Given the description of an element on the screen output the (x, y) to click on. 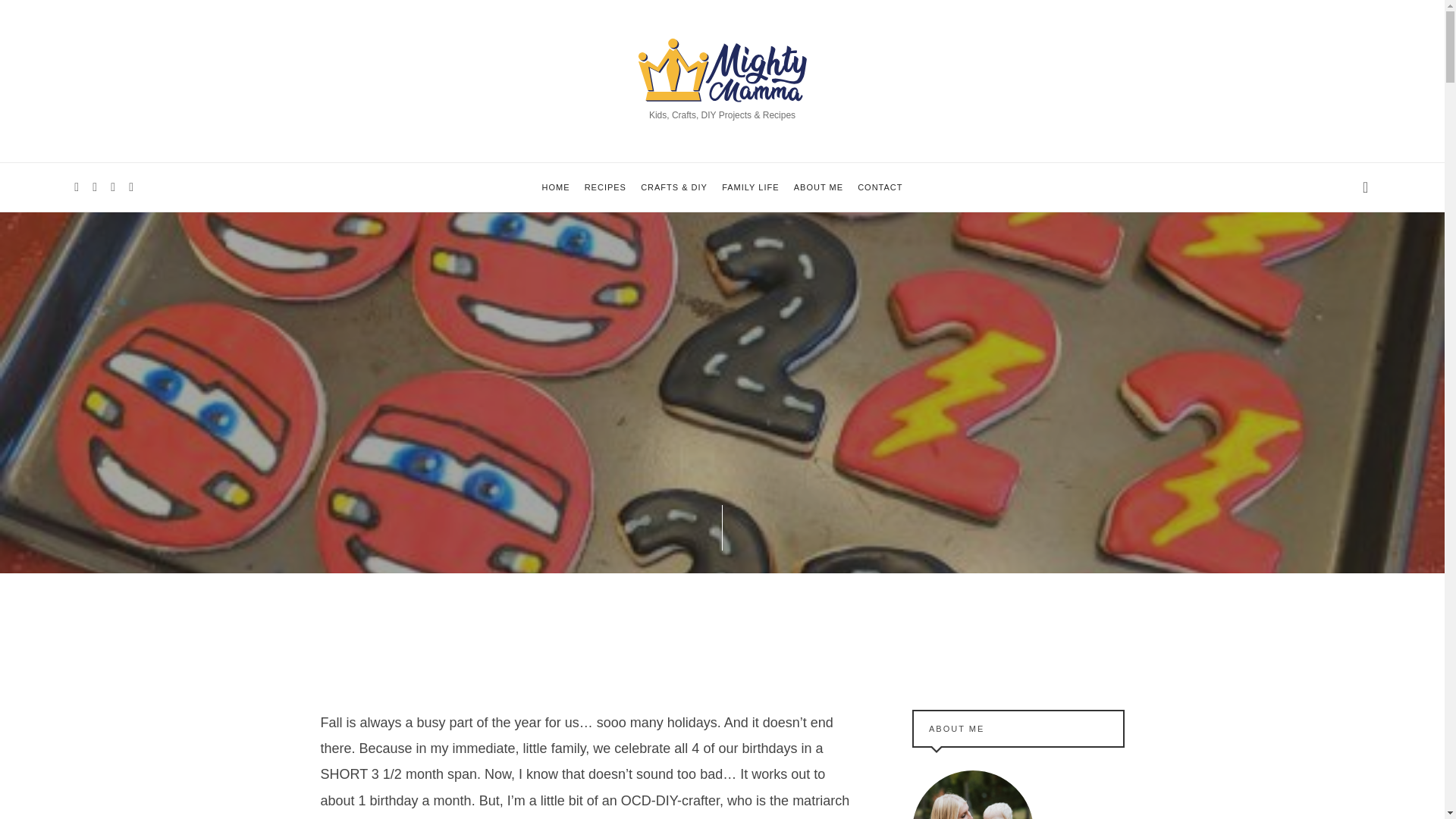
ABOUT ME (818, 186)
CONTACT (879, 186)
FAMILY LIFE (750, 186)
